Given the description of an element on the screen output the (x, y) to click on. 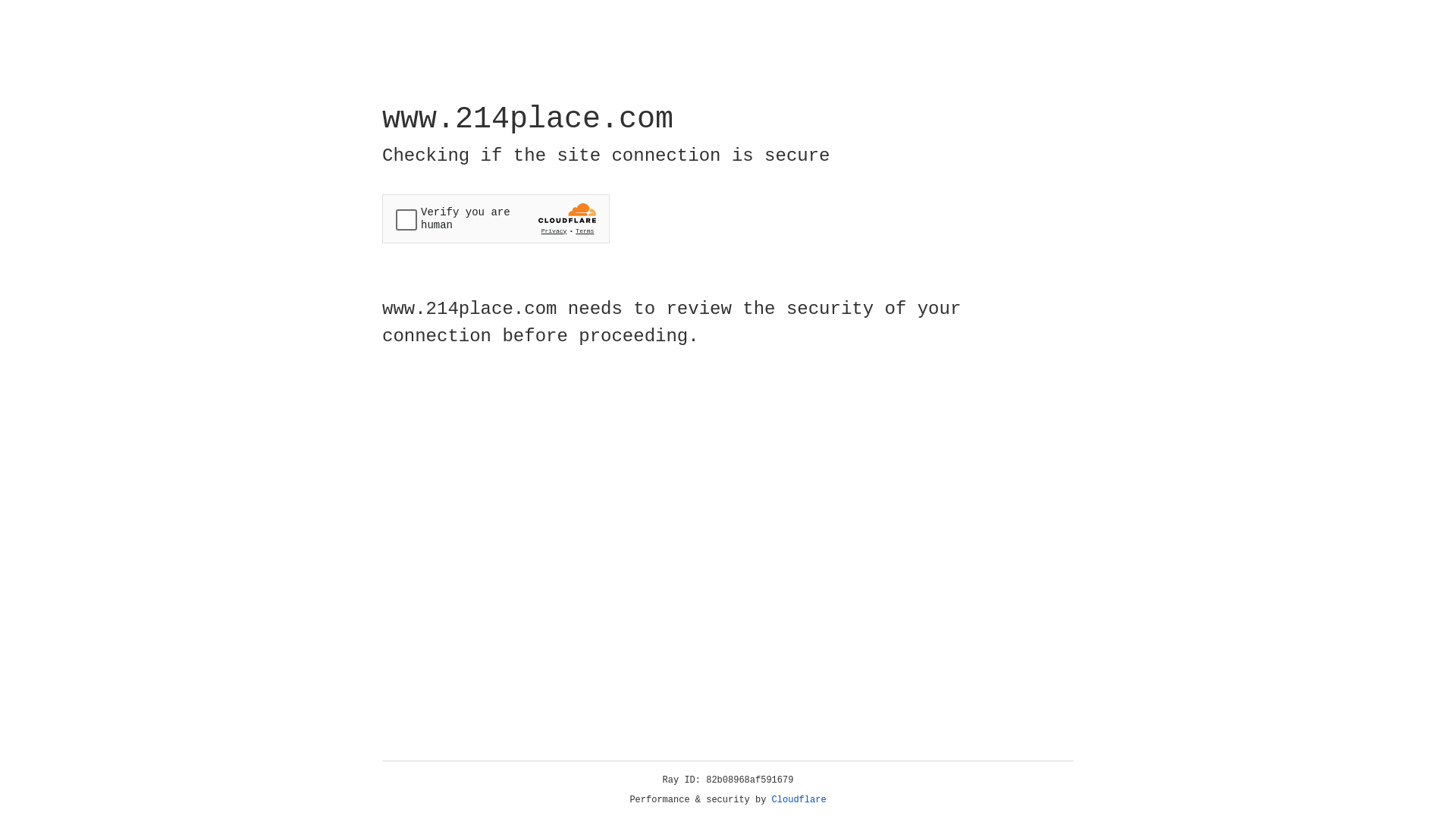
Widget containing a Cloudflare security challenge Element type: hover (495, 218)
Cloudflare Element type: text (798, 799)
